Given the description of an element on the screen output the (x, y) to click on. 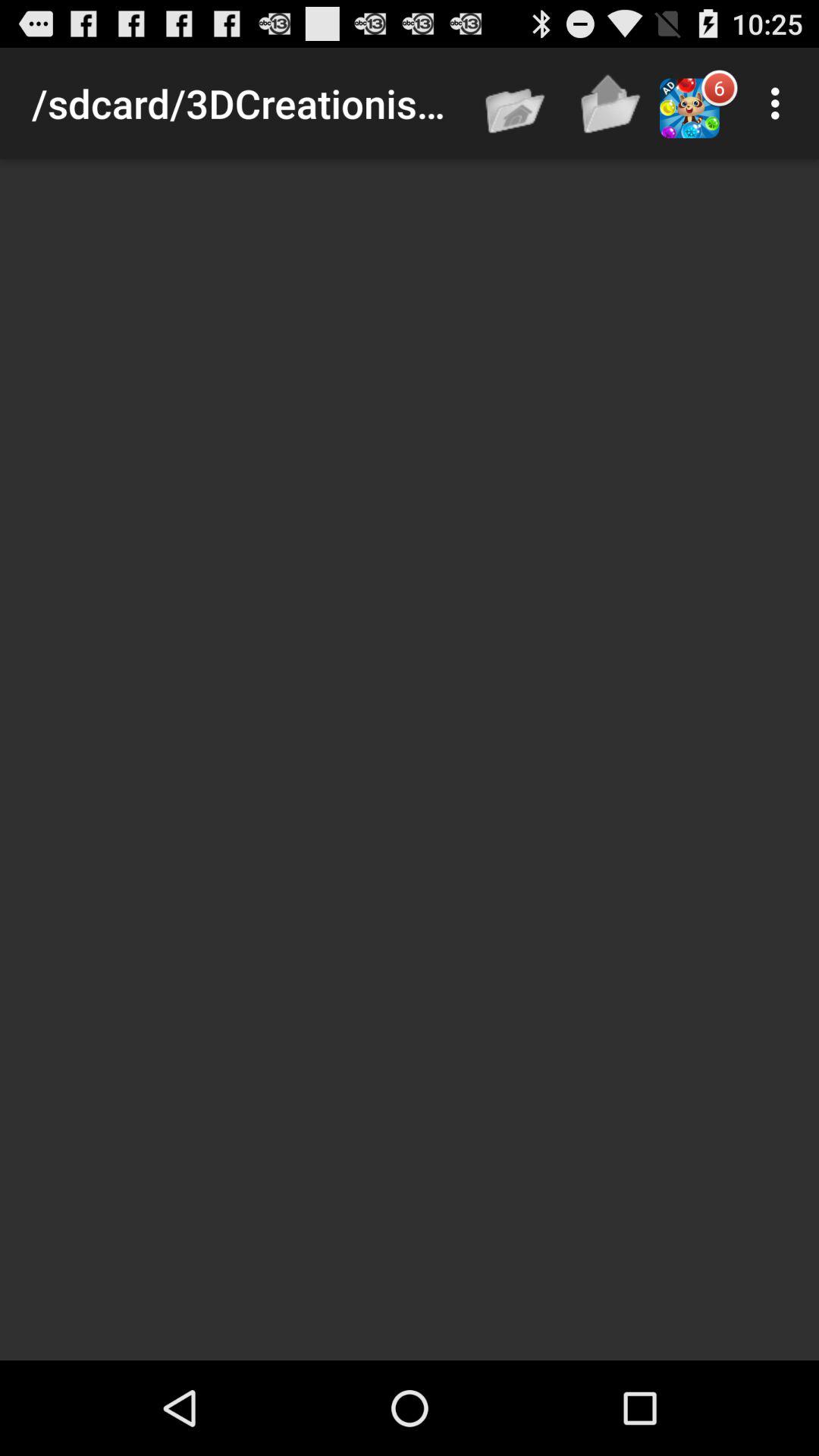
launch the item next to the sdcard 3dcreationist saved_1 app (516, 103)
